Given the description of an element on the screen output the (x, y) to click on. 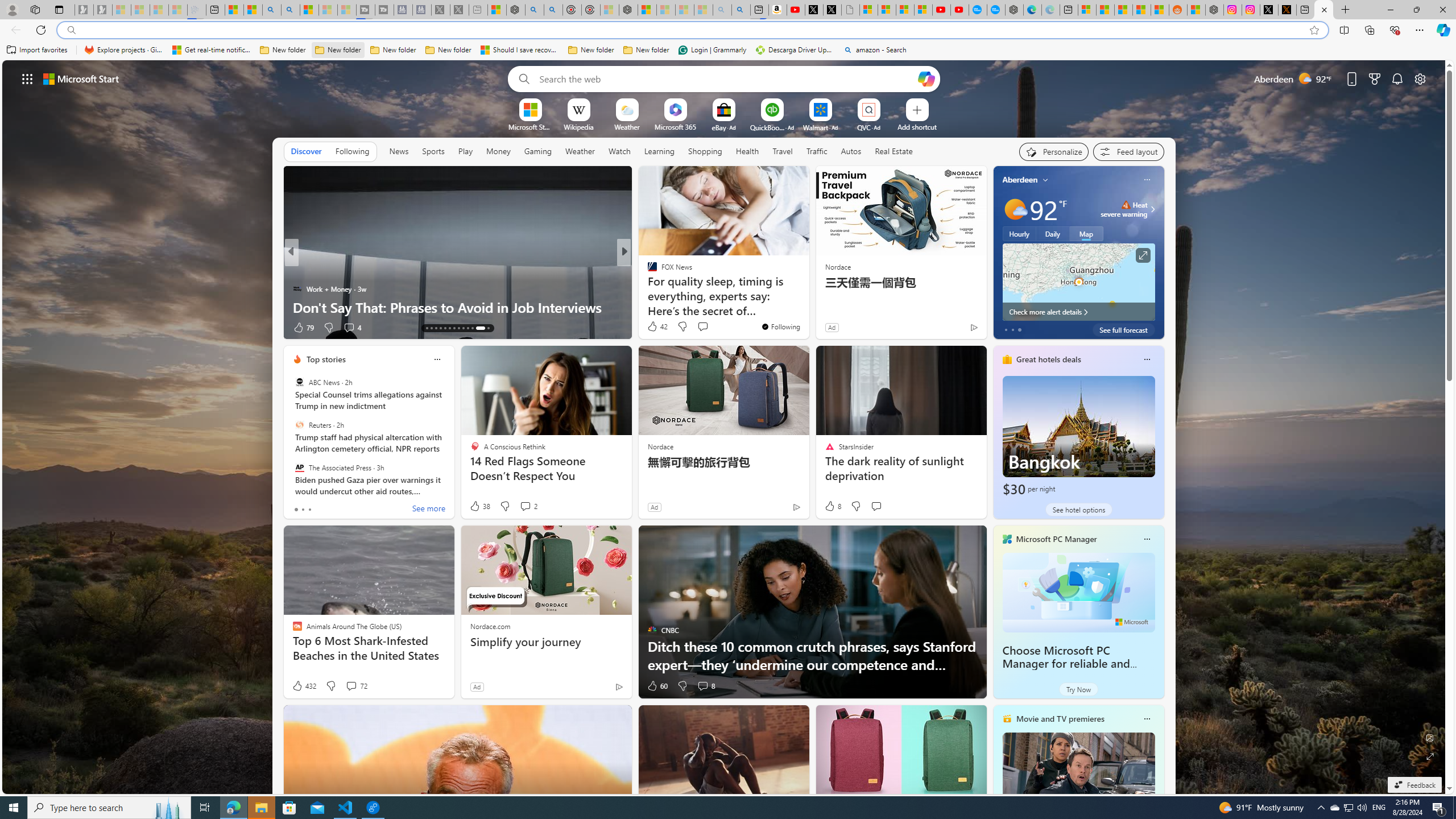
Heat - Severe (1126, 204)
Nordace - Nordace Siena Is Not An Ordinary Backpack (628, 9)
Shopping (705, 151)
Microsoft start (81, 78)
79 Like (303, 327)
49 Like (652, 327)
You're following FOX News (780, 326)
tab-0 (295, 509)
View comments 124 Comment (6, 327)
